Given the description of an element on the screen output the (x, y) to click on. 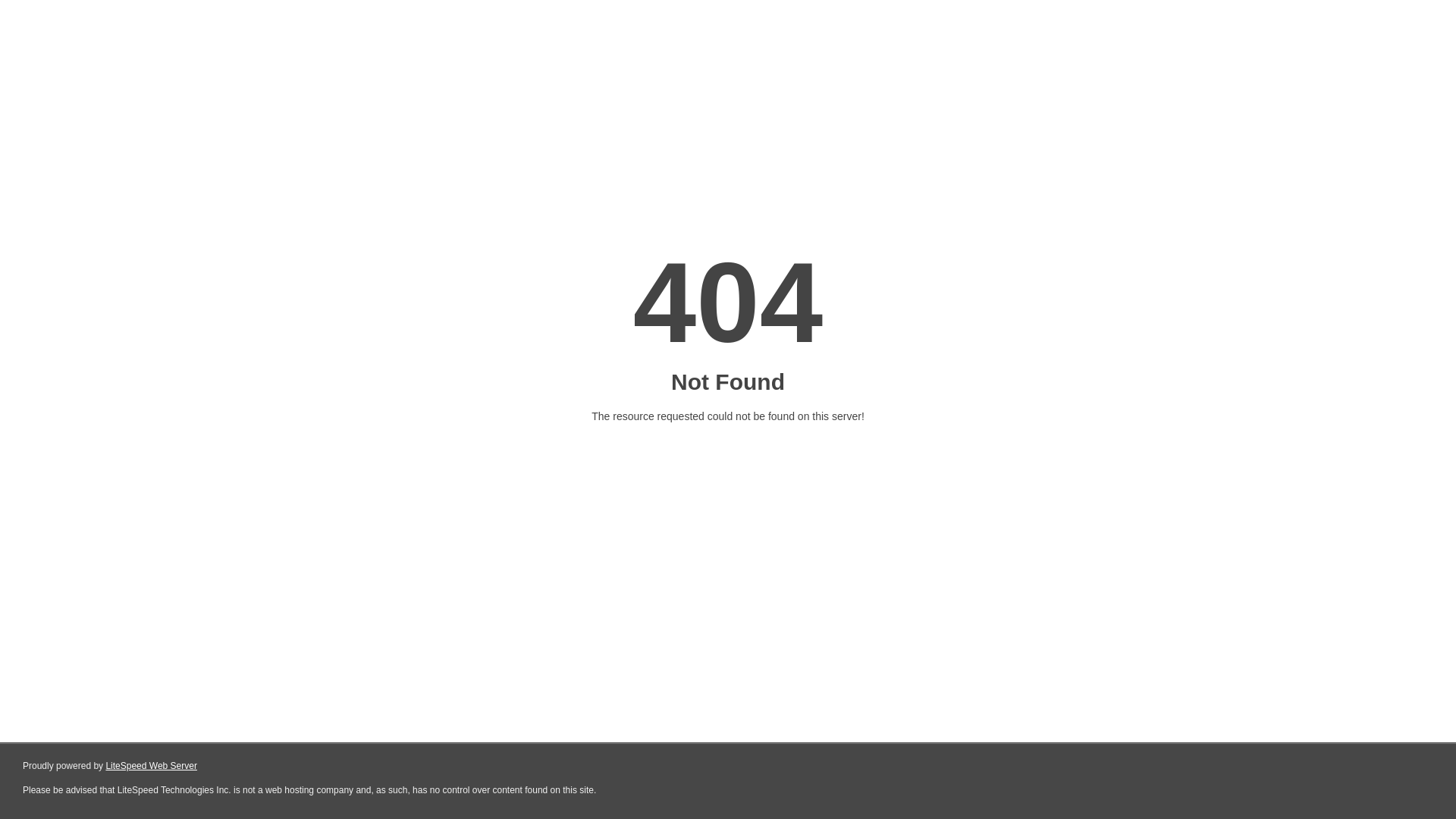
LiteSpeed Web Server Element type: text (151, 765)
